Given the description of an element on the screen output the (x, y) to click on. 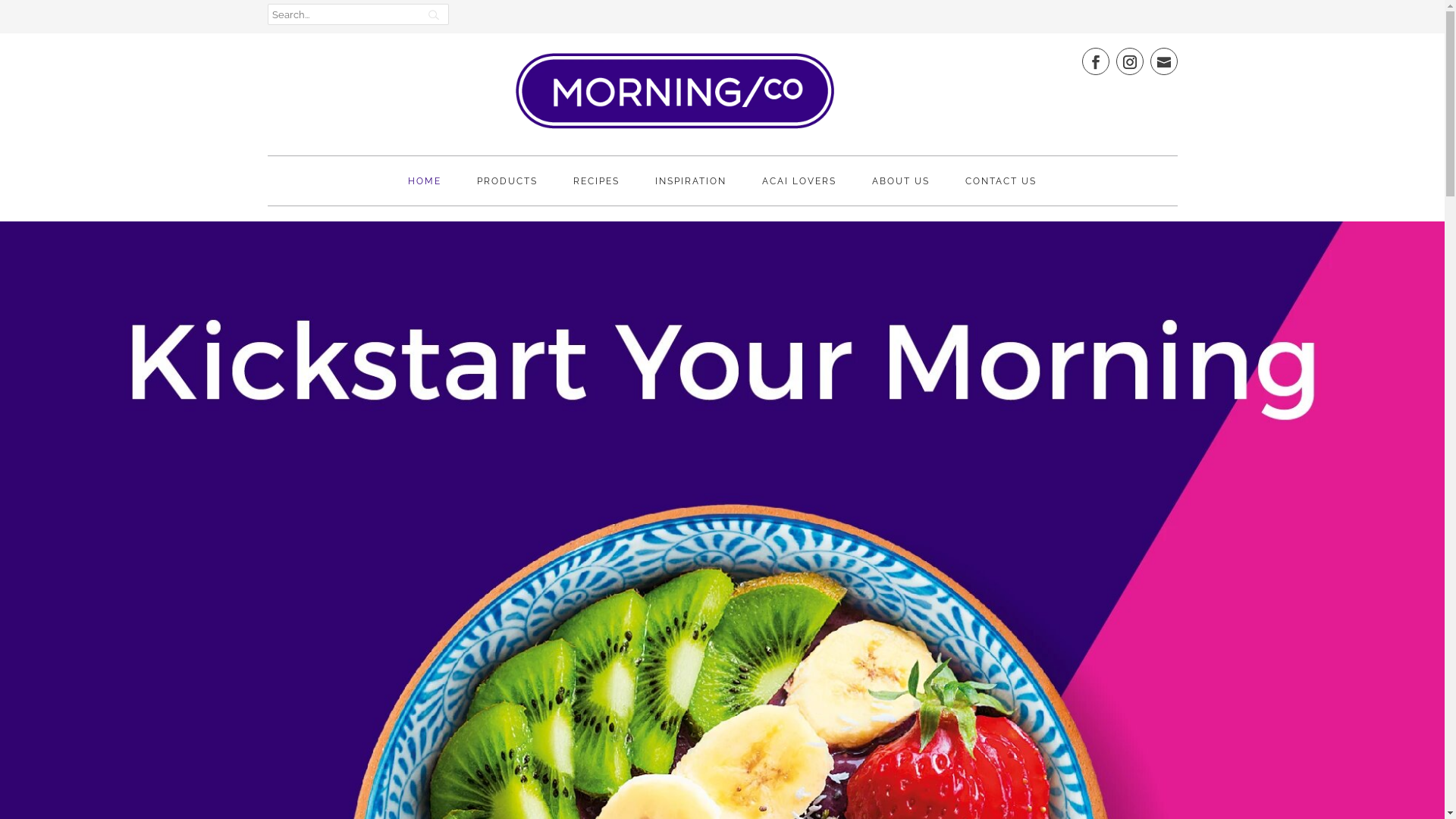
HOME Element type: text (424, 189)
CONTACT US Element type: text (1000, 189)
INSPIRATION Element type: text (690, 189)
RECIPES Element type: text (596, 189)
ACAI LOVERS Element type: text (799, 189)
PRODUCTS Element type: text (506, 189)
ABOUT US Element type: text (900, 189)
